Given the description of an element on the screen output the (x, y) to click on. 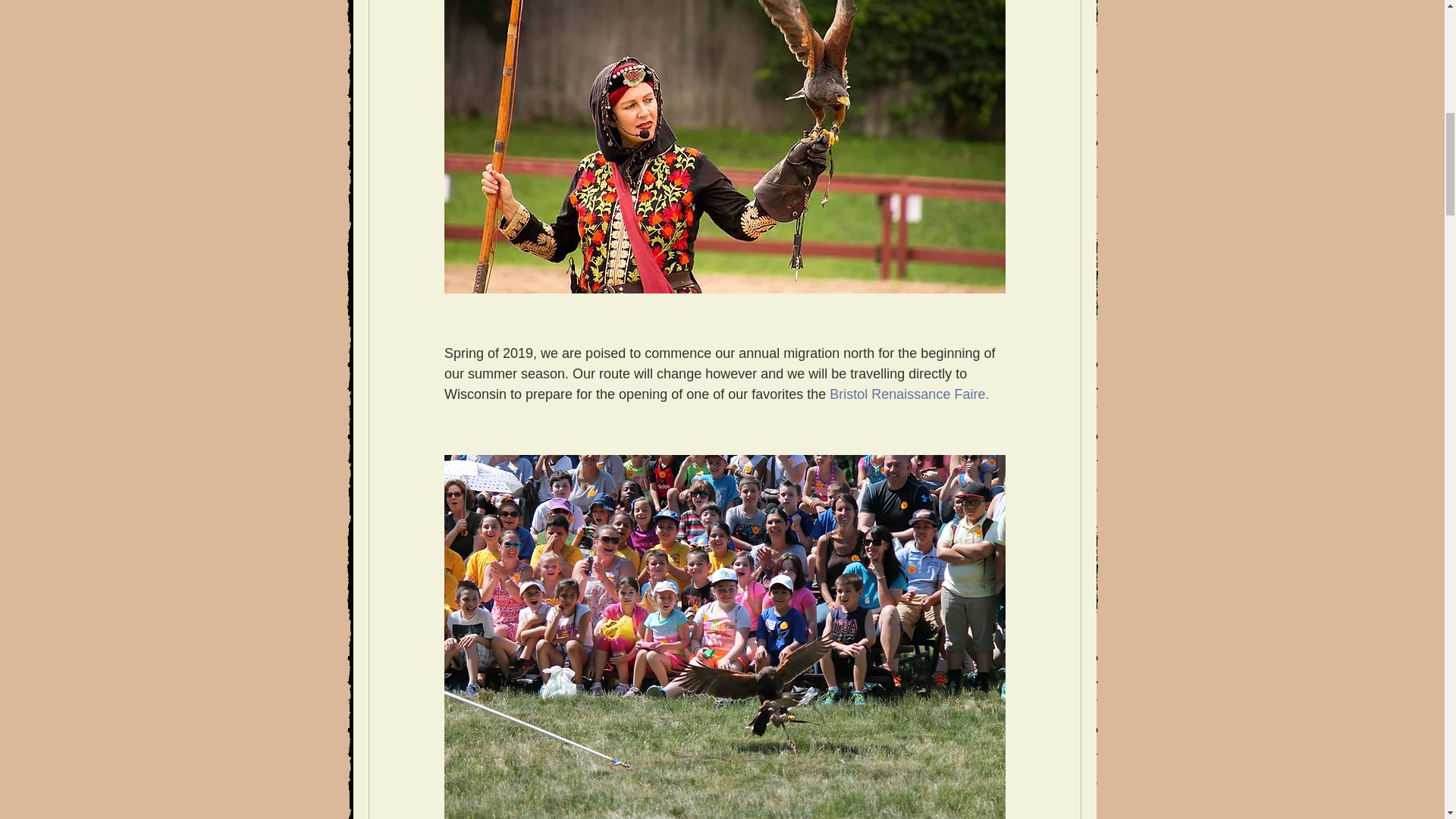
Bristol Renaissance Faire. (908, 394)
